Given the description of an element on the screen output the (x, y) to click on. 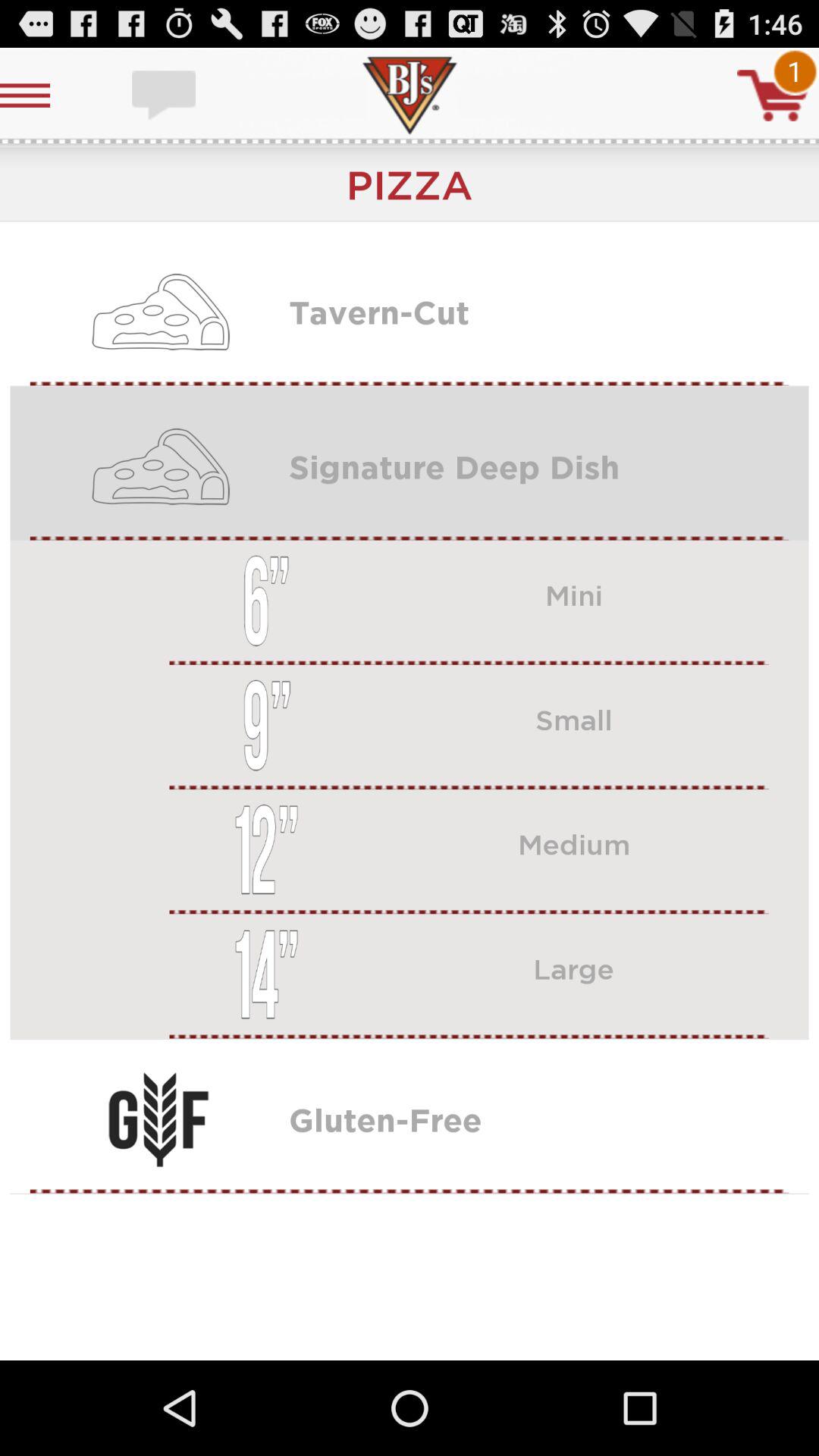
view cart (772, 95)
